Given the description of an element on the screen output the (x, y) to click on. 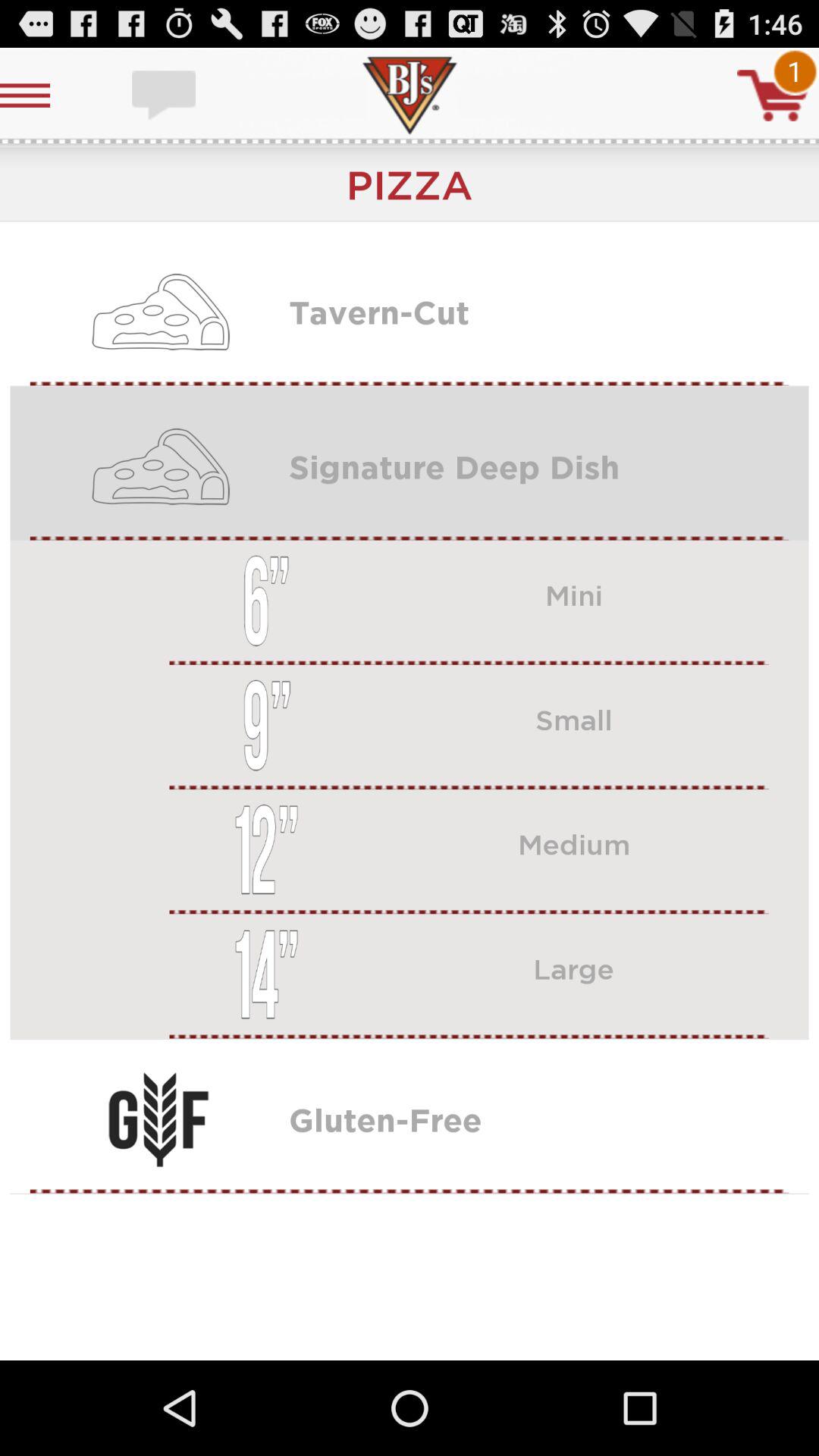
view cart (772, 95)
